Given the description of an element on the screen output the (x, y) to click on. 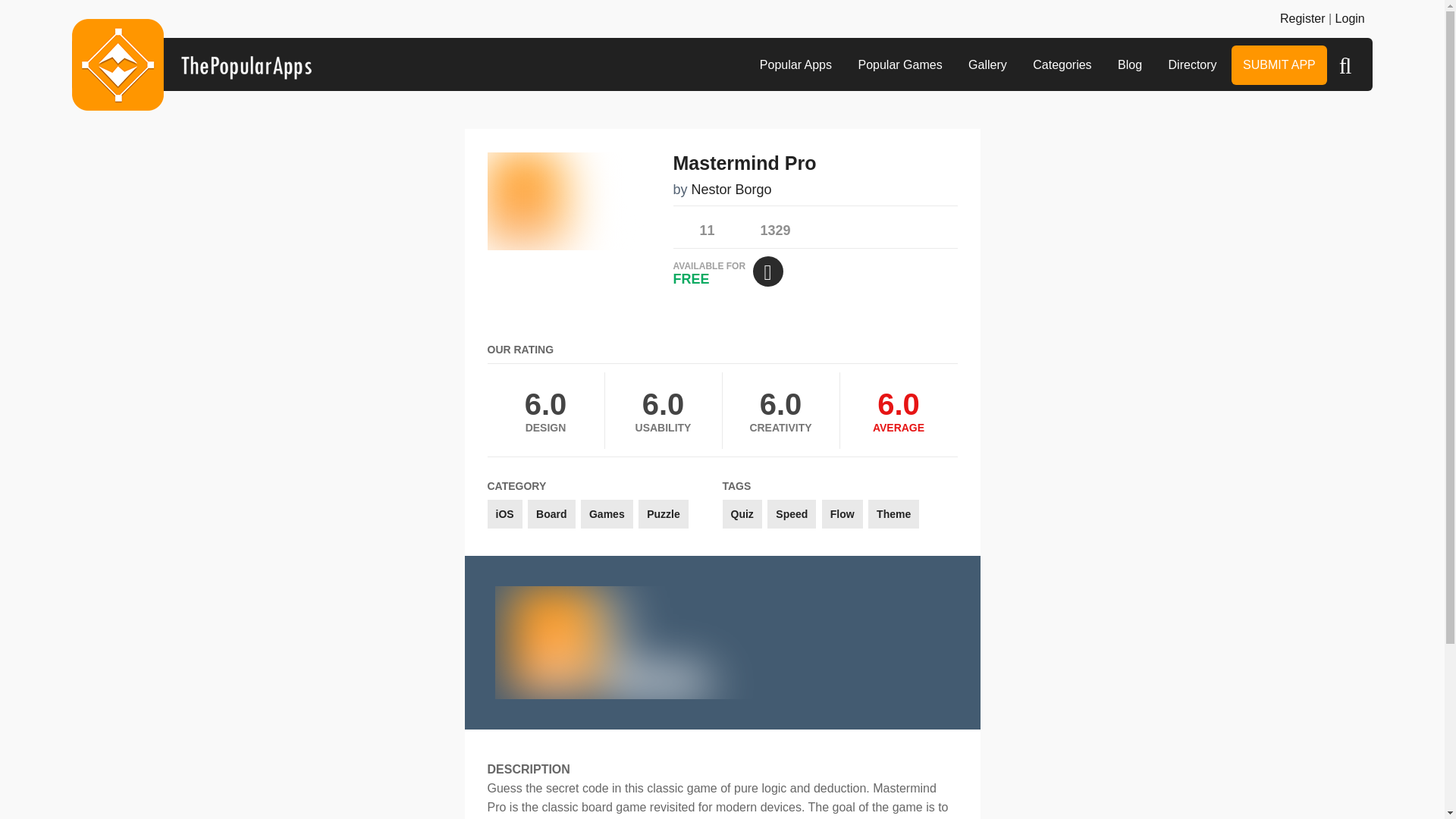
Login (1350, 18)
Popular Apps (795, 65)
Quiz (741, 513)
Puzzle (663, 513)
Flow (842, 513)
The Popular Apps (191, 64)
Gallery (986, 65)
Register (1301, 18)
Board (551, 513)
SUBMIT APP (1278, 65)
